Given the description of an element on the screen output the (x, y) to click on. 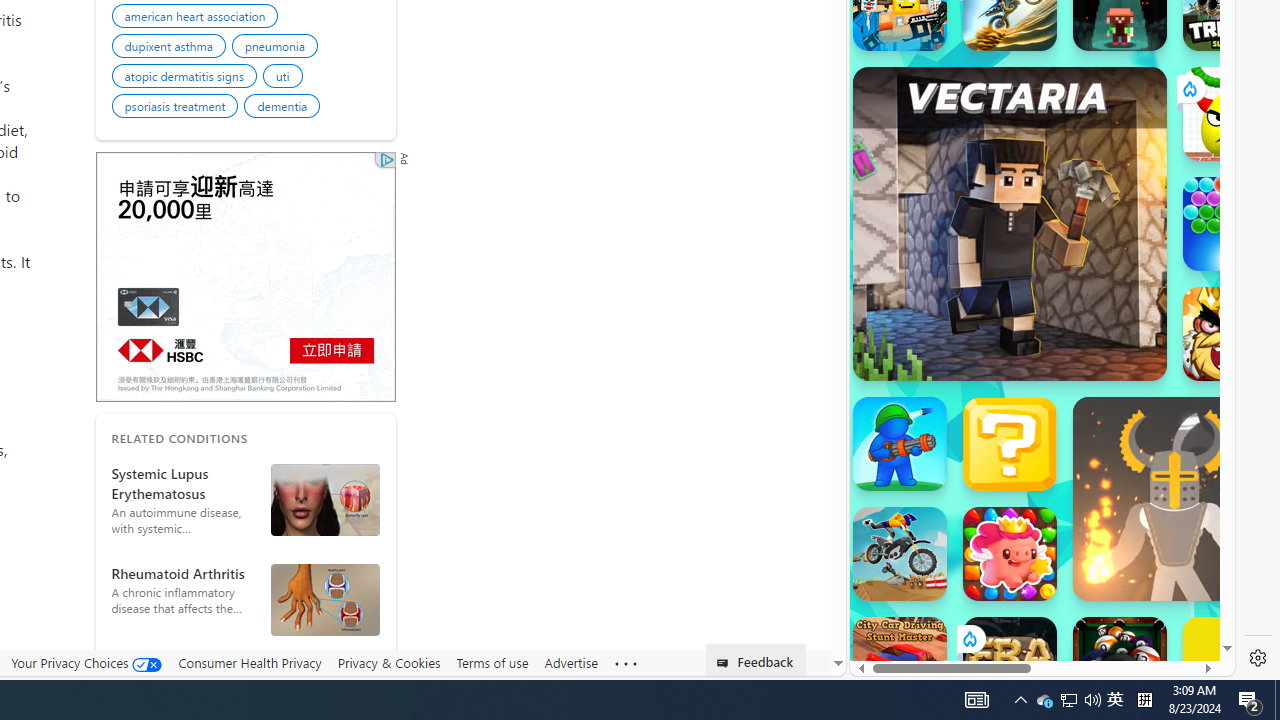
Advertisement (244, 276)
Draw To Smash: Logic Puzzle (1229, 113)
SUBWAY SURFERS - Play Online for Free! | Poki (1034, 624)
Draw To Smash: Logic Puzzle Draw To Smash: Logic Puzzle (1229, 113)
Crazy Bikes Crazy Bikes (899, 553)
Era: Evolution (1009, 664)
Match Arena (1009, 553)
atopic dermatitis signs (186, 79)
Hills of Steel Hills of Steel poki.com (943, 245)
pneumonia (276, 48)
